Given the description of an element on the screen output the (x, y) to click on. 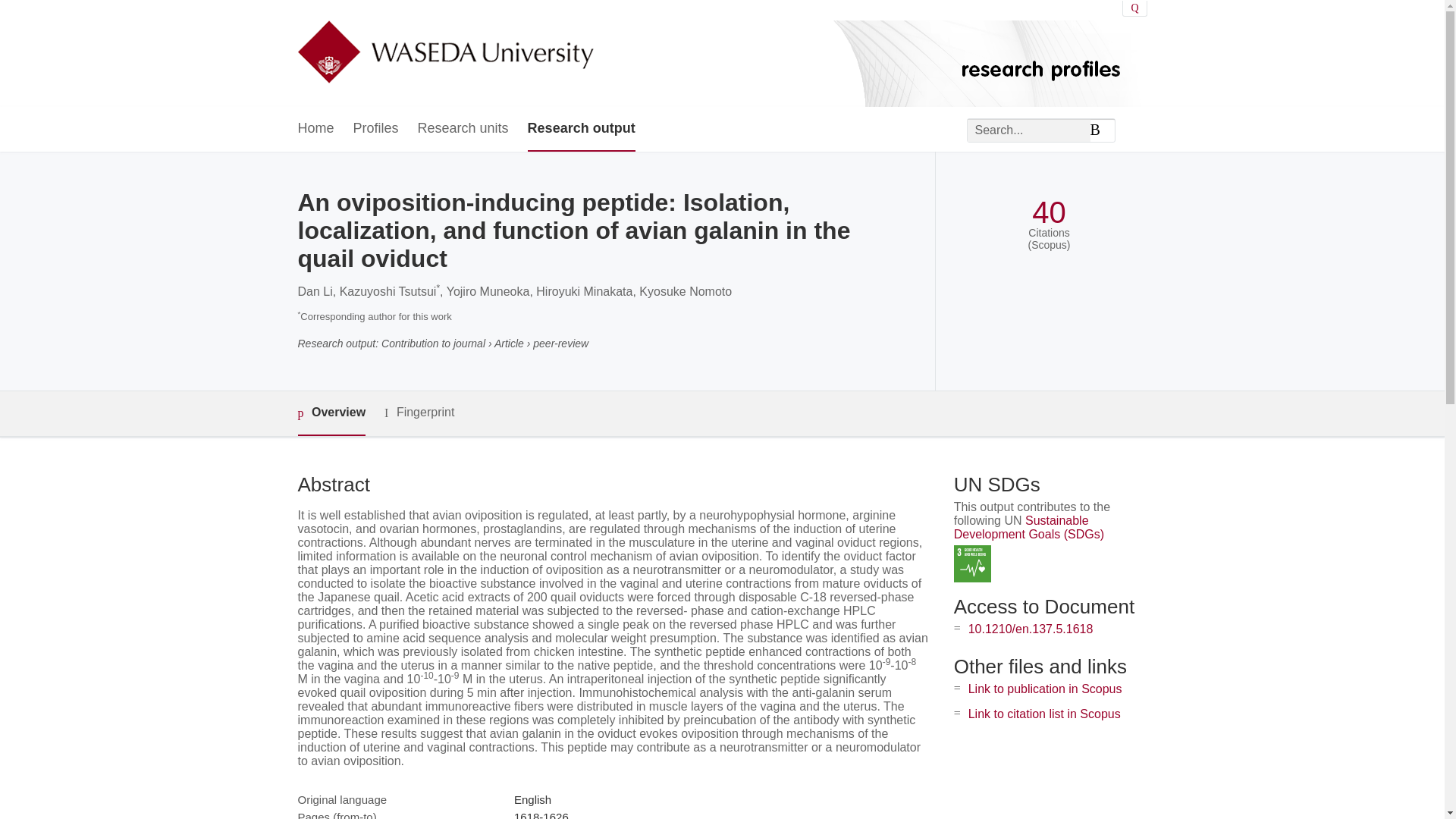
Waseda University Home (444, 53)
Profiles (375, 129)
40 (1048, 212)
Research units (462, 129)
Overview (331, 413)
Link to publication in Scopus (1045, 688)
Fingerprint (419, 412)
Link to citation list in Scopus (1044, 713)
Research output (580, 129)
SDG 3 - Good Health and Well-being (972, 563)
